Given the description of an element on the screen output the (x, y) to click on. 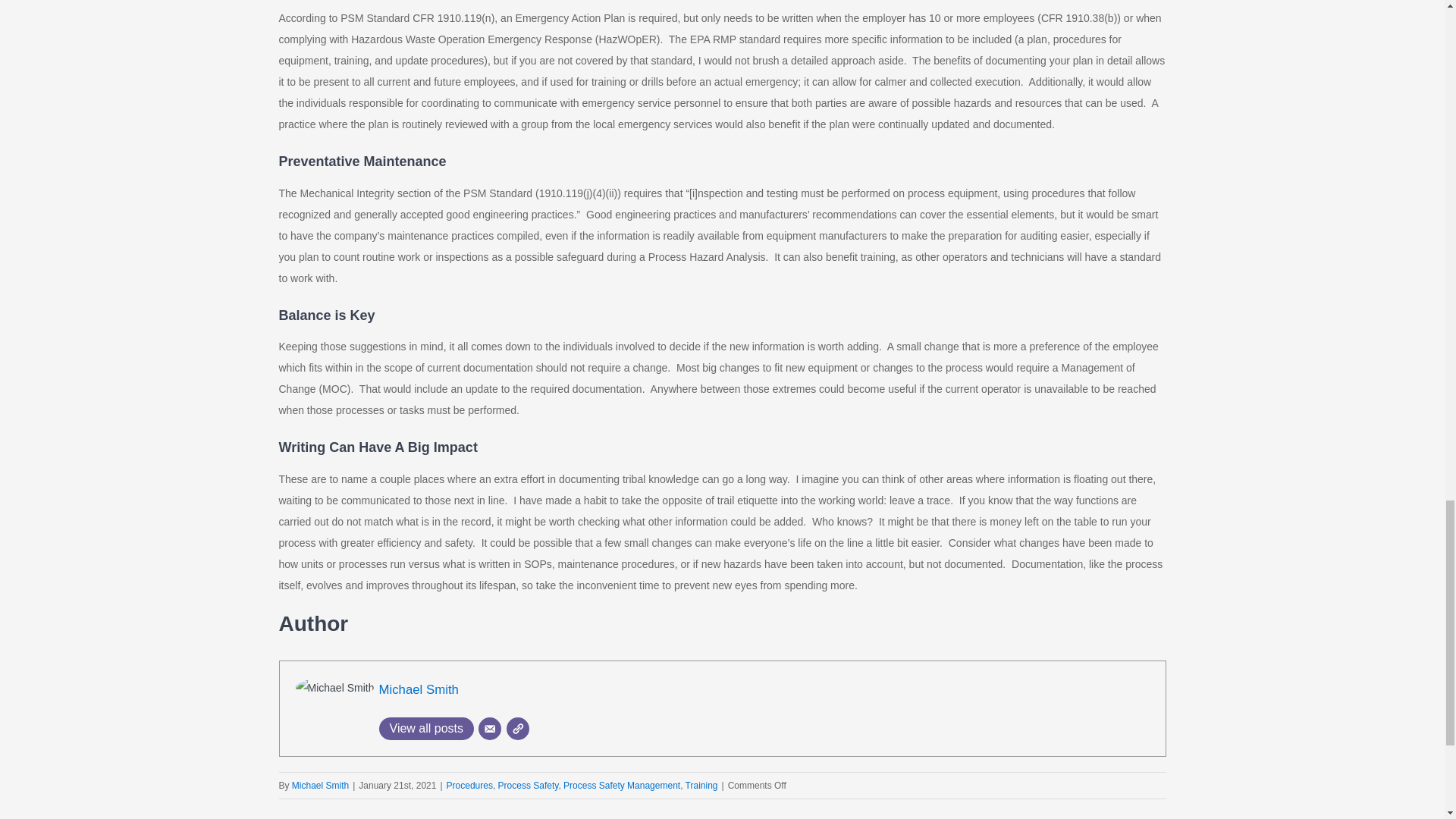
Posts by Michael Smith (320, 785)
View all posts (426, 728)
Michael Smith (418, 689)
